Given the description of an element on the screen output the (x, y) to click on. 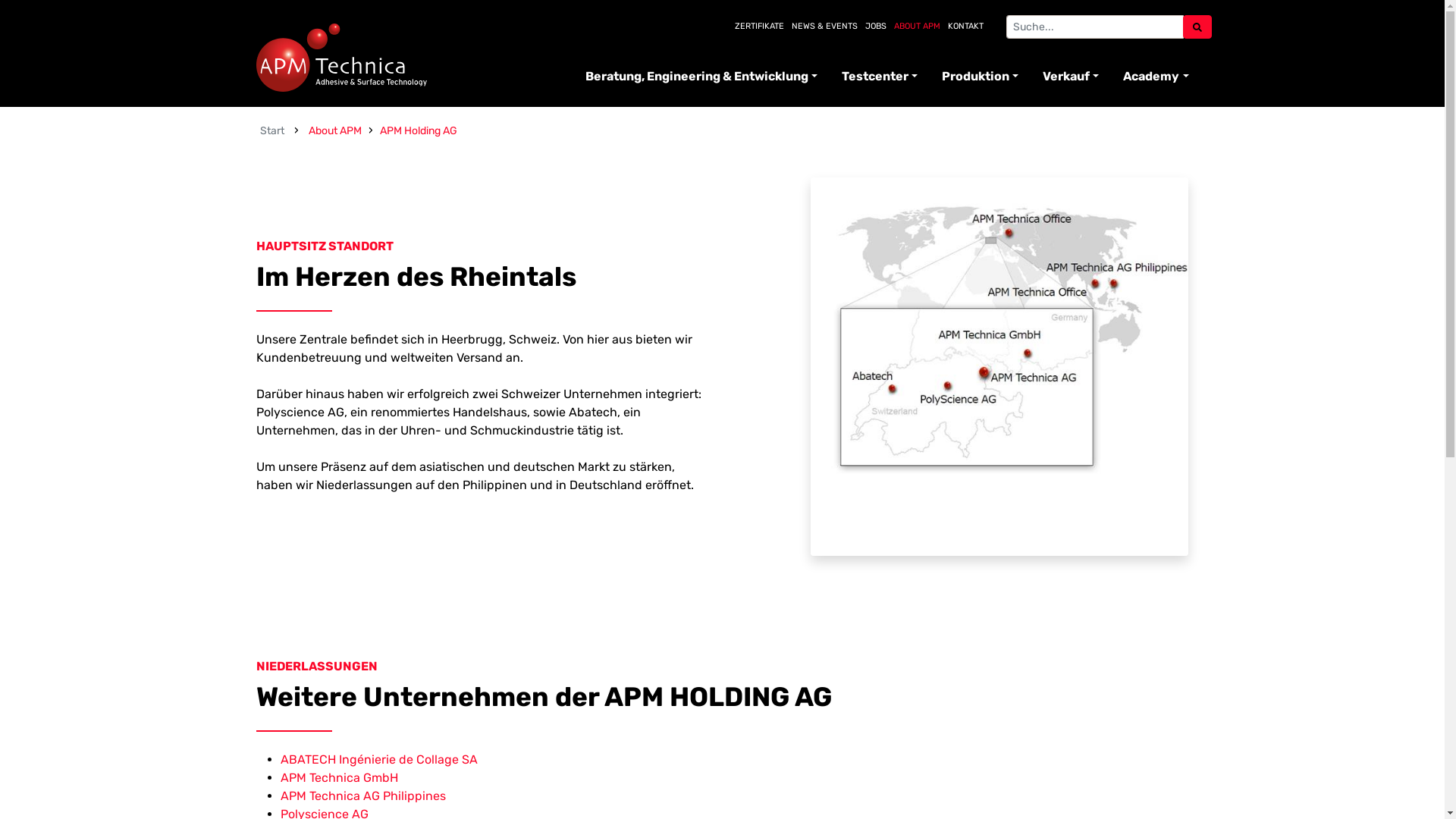
Start Element type: text (272, 130)
KONTAKT Element type: text (965, 26)
APM Technica GmbH Element type: text (339, 777)
APM Technica Element type: hover (341, 57)
Academy Element type: text (1149, 76)
NEWS & EVENTS Element type: text (824, 26)
Beratung, Engineering & Entwicklung Element type: text (701, 76)
Testcenter Element type: text (879, 76)
APM Holding AG Element type: text (418, 130)
Verkauf Element type: text (1070, 76)
ZERTIFIKATE Element type: text (758, 26)
Produktion Element type: text (979, 76)
ABOUT APM Element type: text (916, 26)
APM Technica AG Philippines Element type: text (362, 795)
JOBS Element type: text (874, 26)
About APM Element type: text (334, 130)
